Given the description of an element on the screen output the (x, y) to click on. 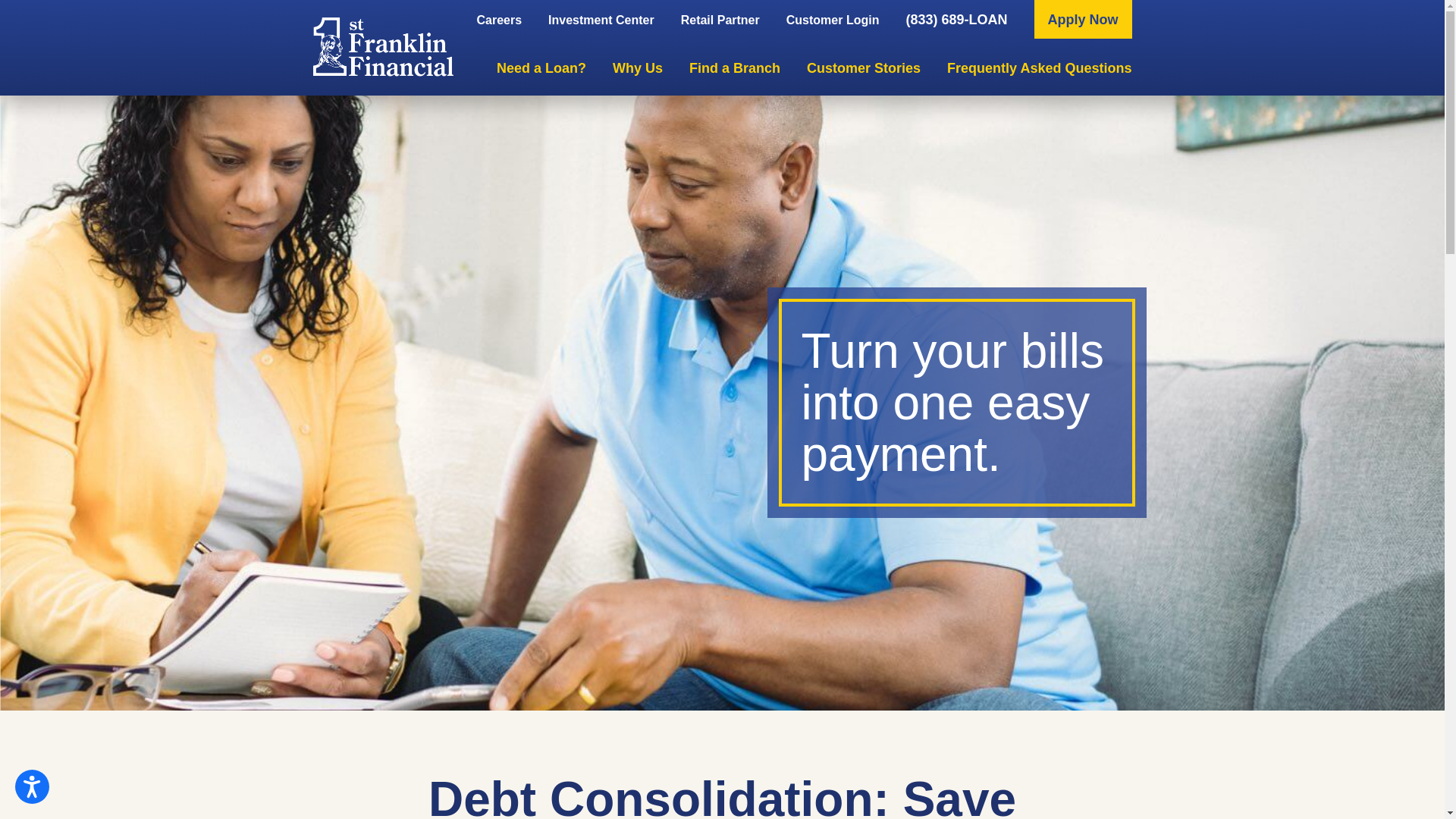
Careers Element type: text (498, 19)
Why Us Element type: text (637, 67)
unexpected-expenses Element type: hover (722, 402)
Retail Partner Element type: text (719, 19)
Investment Center Element type: text (601, 19)
Customer Stories Element type: text (863, 67)
Apply Now Element type: text (1083, 19)
Customer Login Element type: text (832, 19)
Frequently Asked Questions Element type: text (1039, 67)
Need a Loan? Element type: text (541, 67)
Find a Branch Element type: text (734, 67)
